Given the description of an element on the screen output the (x, y) to click on. 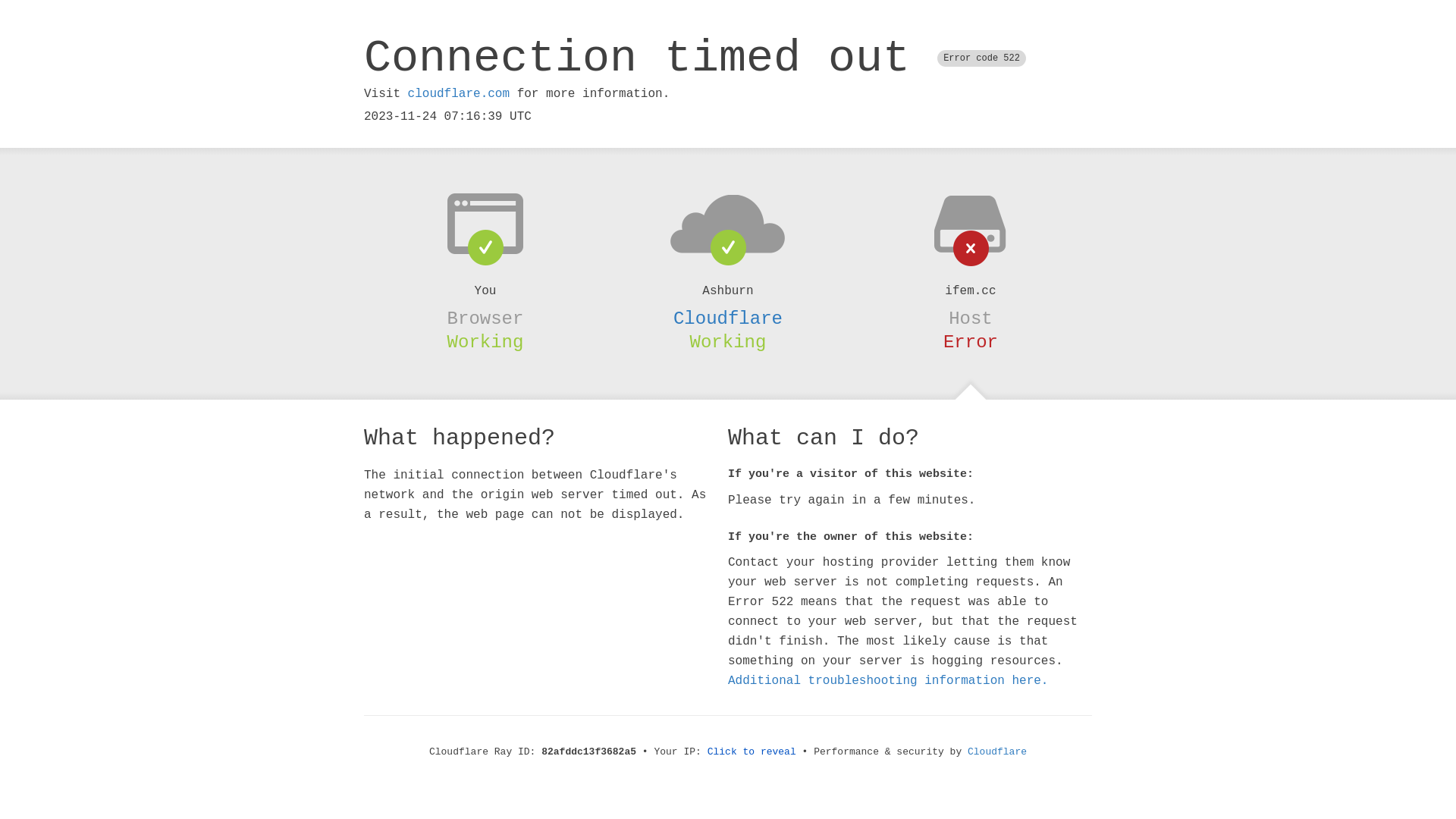
Click to reveal Element type: text (751, 751)
Additional troubleshooting information here. Element type: text (888, 680)
Cloudflare Element type: text (996, 751)
Cloudflare Element type: text (727, 318)
cloudflare.com Element type: text (458, 93)
